Given the description of an element on the screen output the (x, y) to click on. 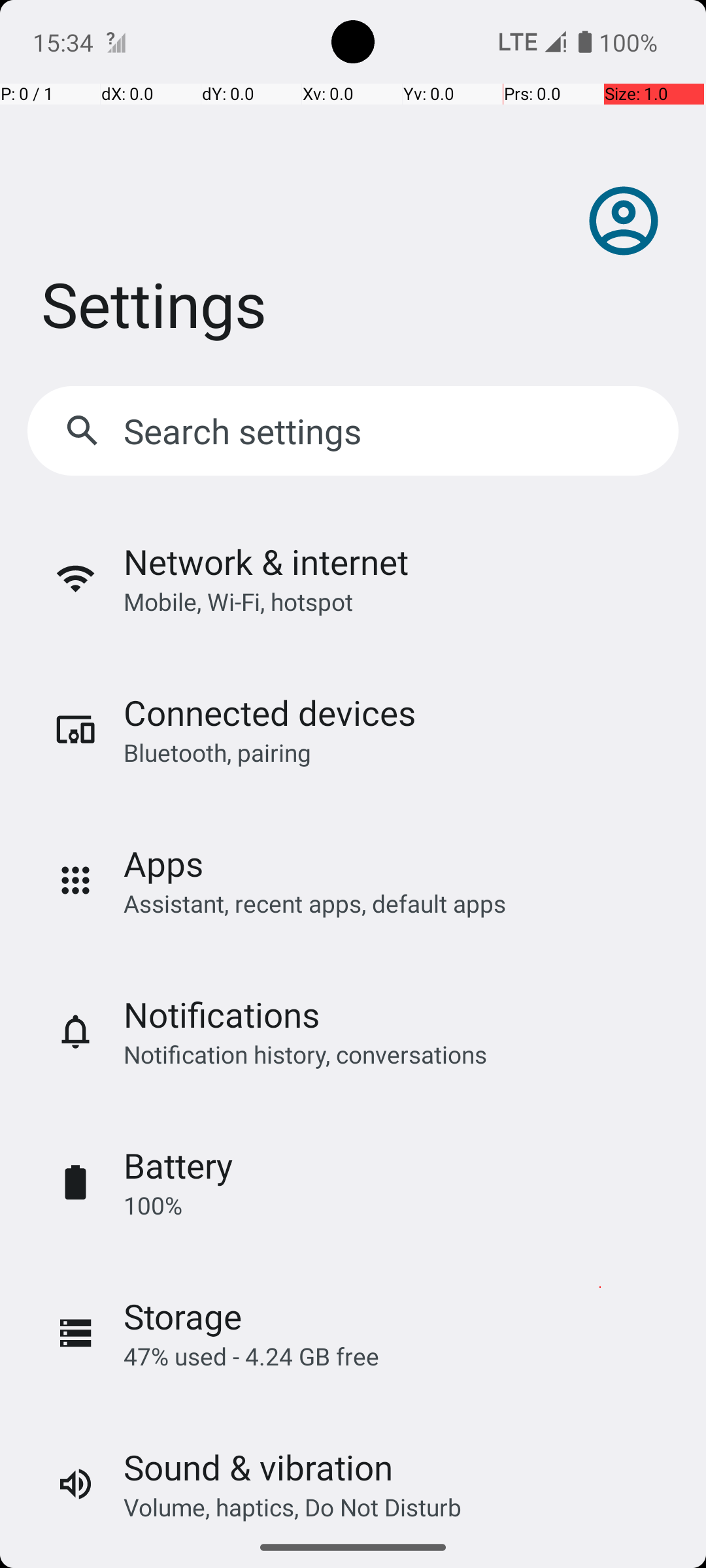
47% used - 4.24 GB free Element type: android.widget.TextView (251, 1355)
